Given the description of an element on the screen output the (x, y) to click on. 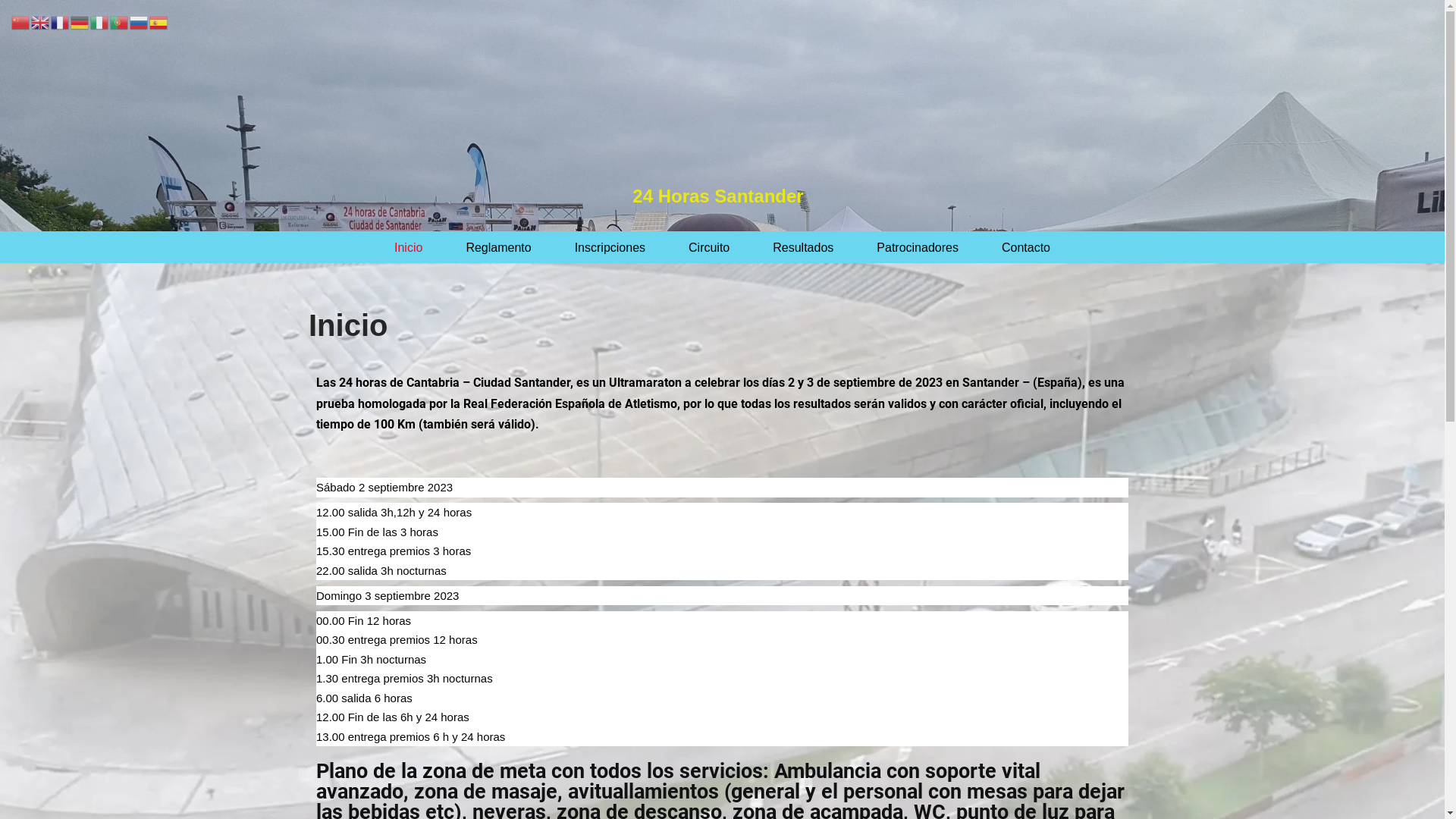
Saltar al contenido Element type: text (11, 31)
Resultados Element type: text (802, 247)
French Element type: hover (60, 21)
24 Horas Santander Element type: text (717, 196)
Patrocinadores Element type: text (917, 247)
English Element type: hover (40, 21)
Contacto Element type: text (1025, 247)
German Element type: hover (80, 21)
Spanish Element type: hover (159, 21)
Portuguese Element type: hover (119, 21)
Russian Element type: hover (139, 21)
Inicio Element type: text (408, 247)
Chinese (Simplified) Element type: hover (21, 21)
Circuito Element type: text (708, 247)
Italian Element type: hover (99, 21)
Inscripciones Element type: text (609, 247)
Reglamento Element type: text (497, 247)
